Given the description of an element on the screen output the (x, y) to click on. 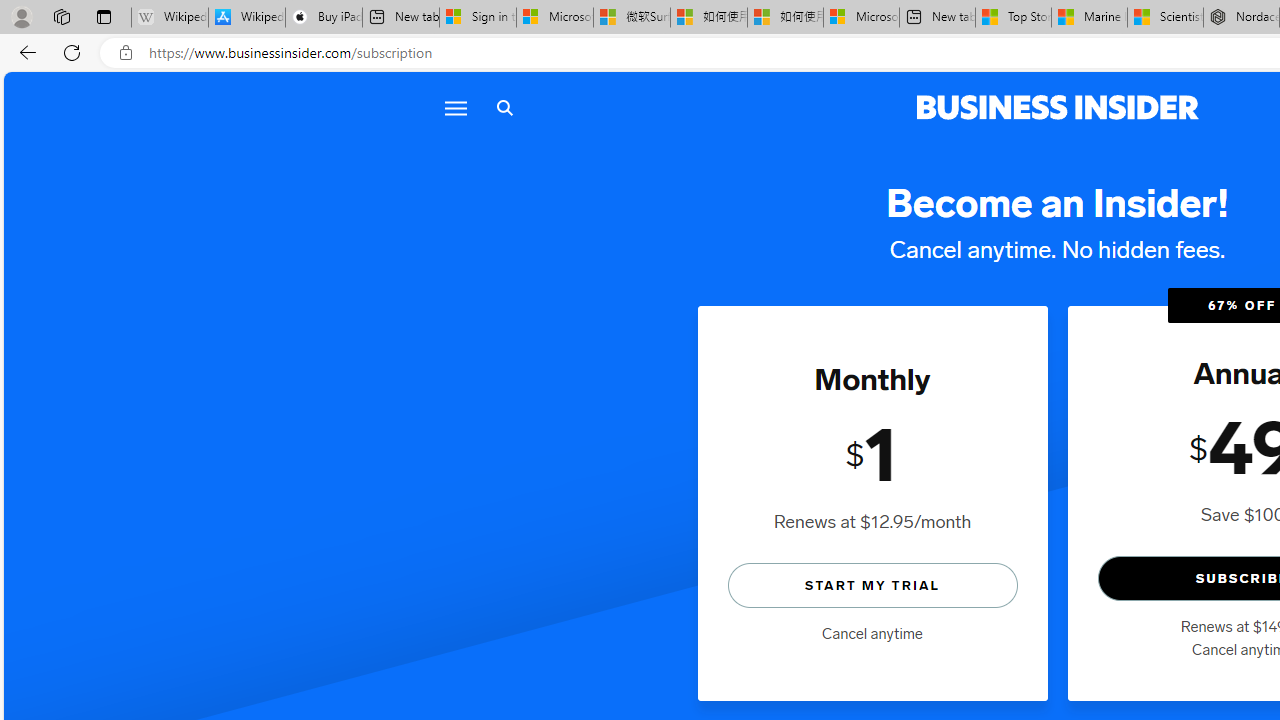
Menu (454, 107)
Menu icon (455, 107)
Go to the search page. (504, 107)
Business Insider logo (1057, 107)
